Given the description of an element on the screen output the (x, y) to click on. 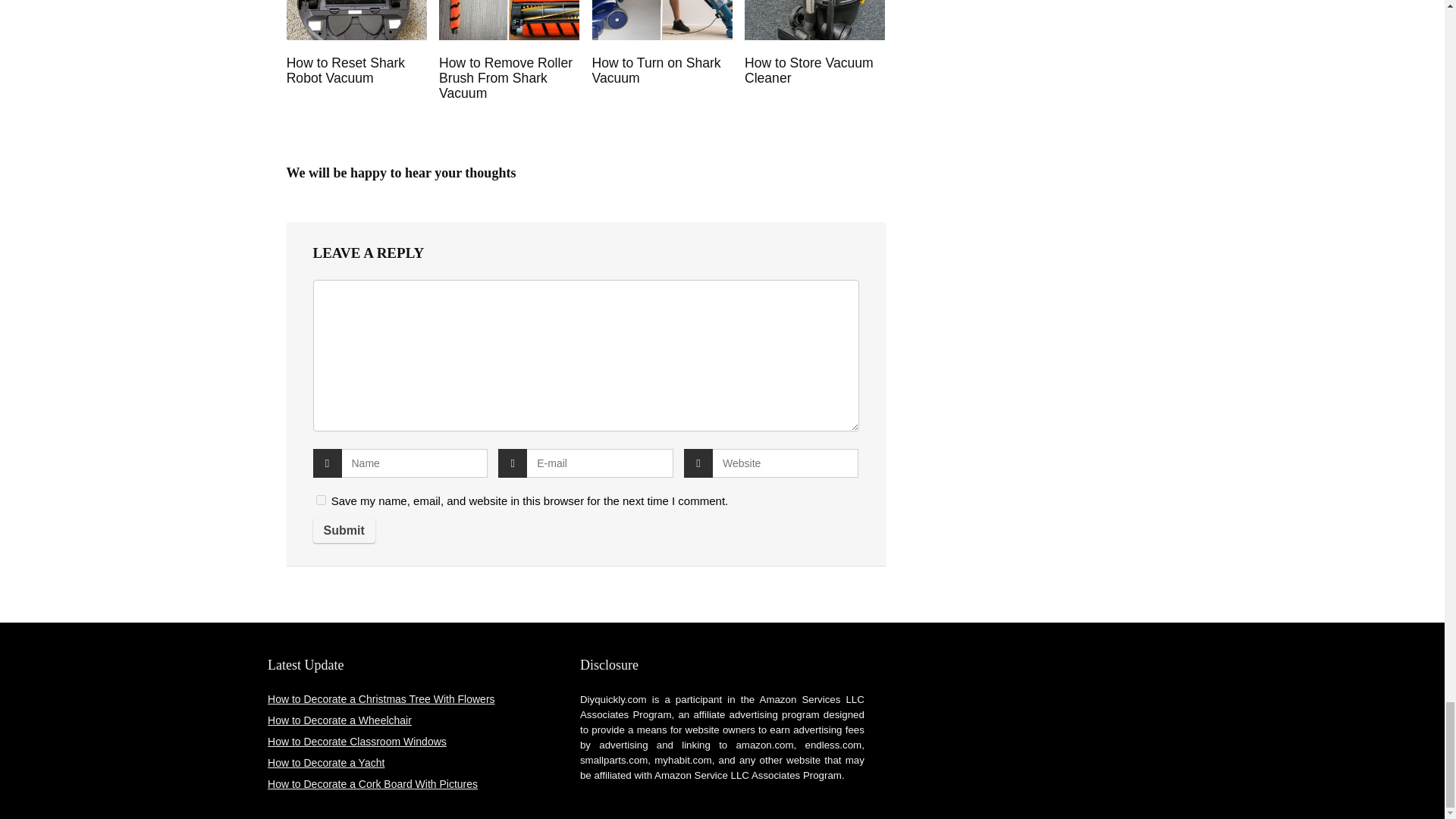
How to Turn on Shark Vacuum (655, 70)
How to Reset Shark Robot Vacuum (345, 70)
How to Store Vacuum Cleaner (808, 70)
How to Remove Roller Brush From Shark Vacuum (505, 77)
yes (319, 500)
Submit (343, 530)
Submit (343, 530)
